Given the description of an element on the screen output the (x, y) to click on. 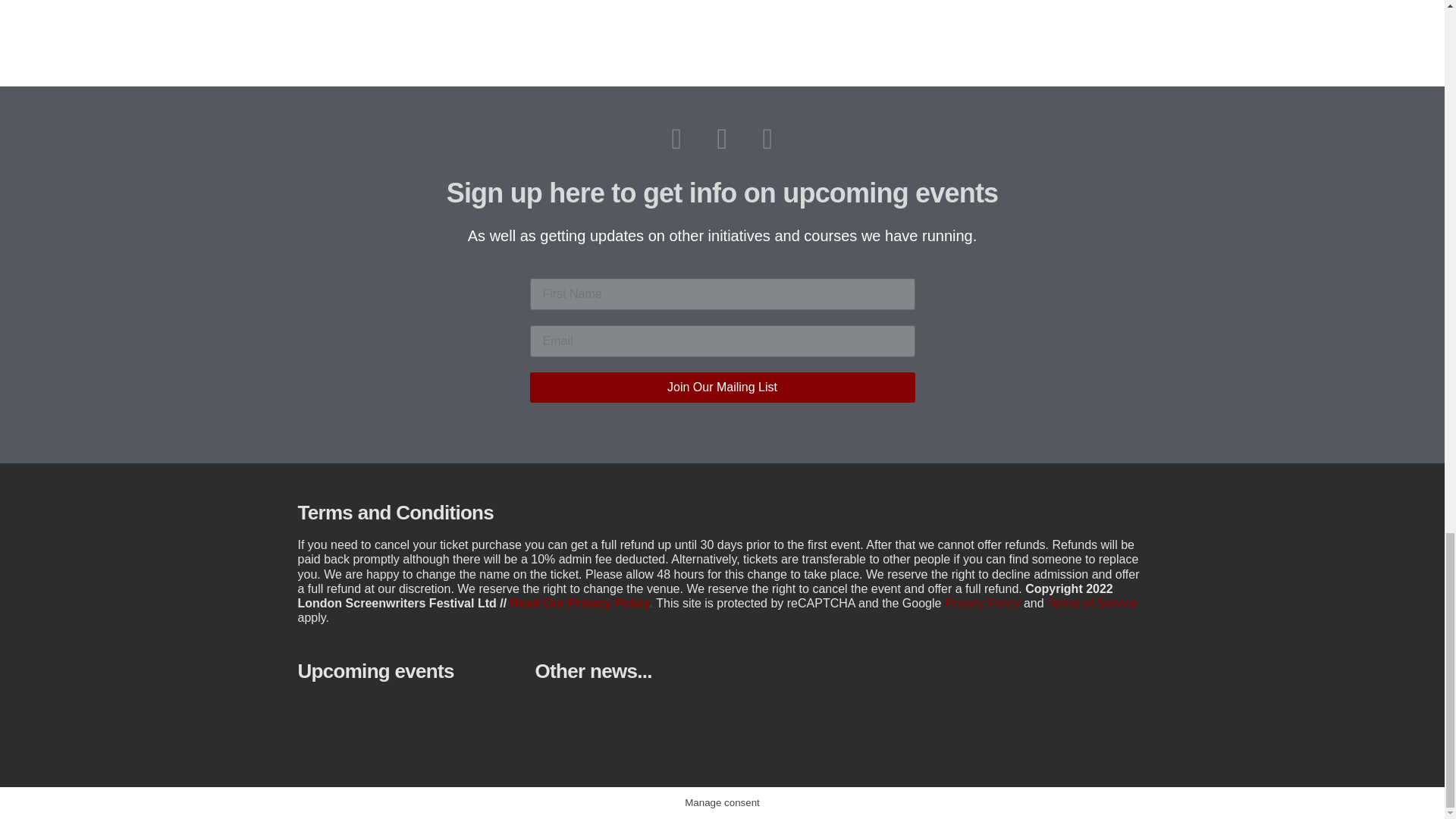
Join Our Mailing List (721, 387)
Privacy Policy (982, 603)
Read Our Privacy Policy (580, 603)
Terms of Service (1091, 603)
